Given the description of an element on the screen output the (x, y) to click on. 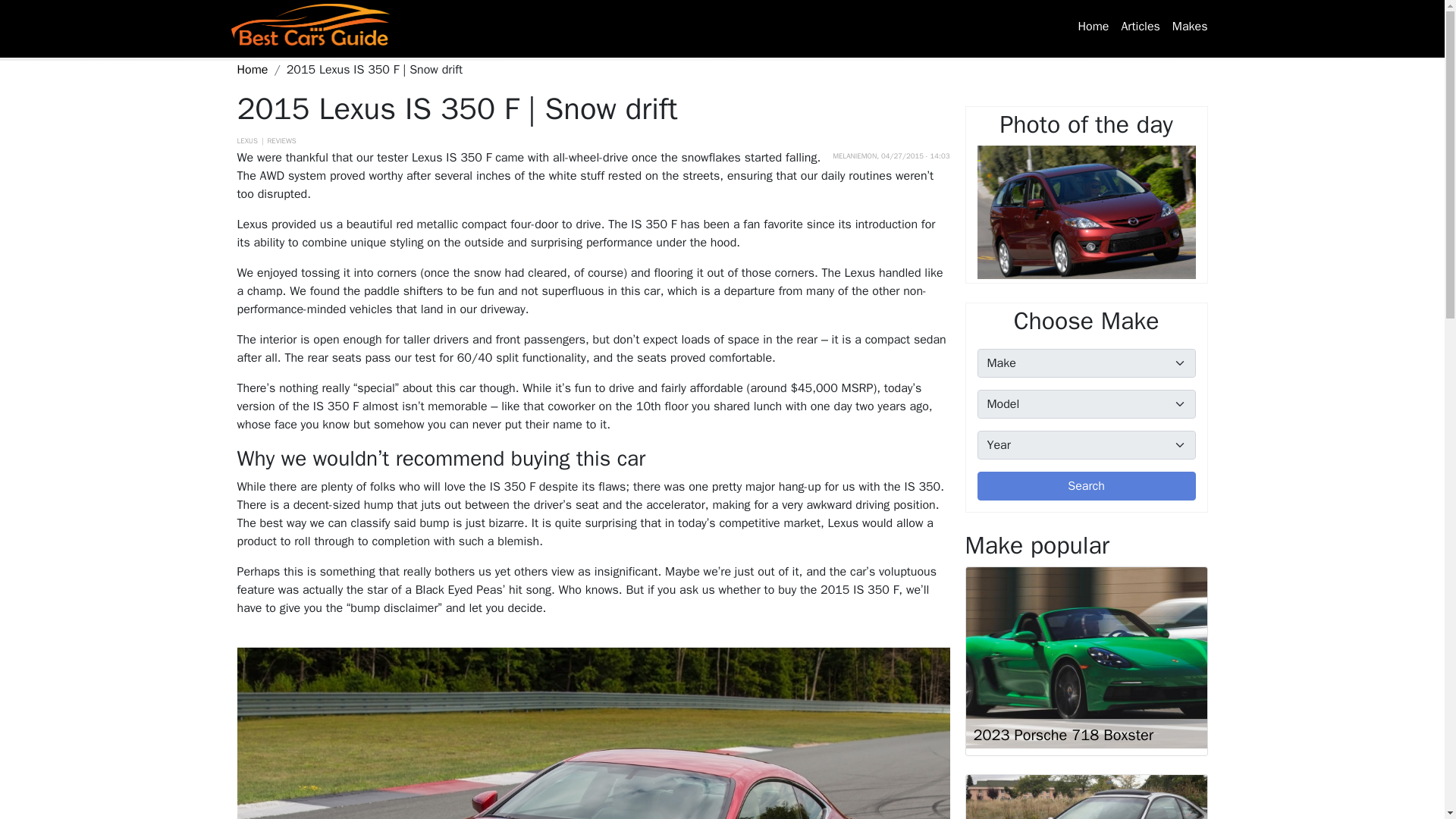
REVIEWS (280, 140)
Home (1093, 26)
LEXUS (246, 140)
2023 Porsche 718 Boxster Review, Pricing, and Specs (1086, 657)
Articles (1140, 26)
Search (1085, 485)
Home (317, 26)
Search (1085, 485)
Home (251, 69)
2023 Porsche 718 Boxster (1064, 734)
